Given the description of an element on the screen output the (x, y) to click on. 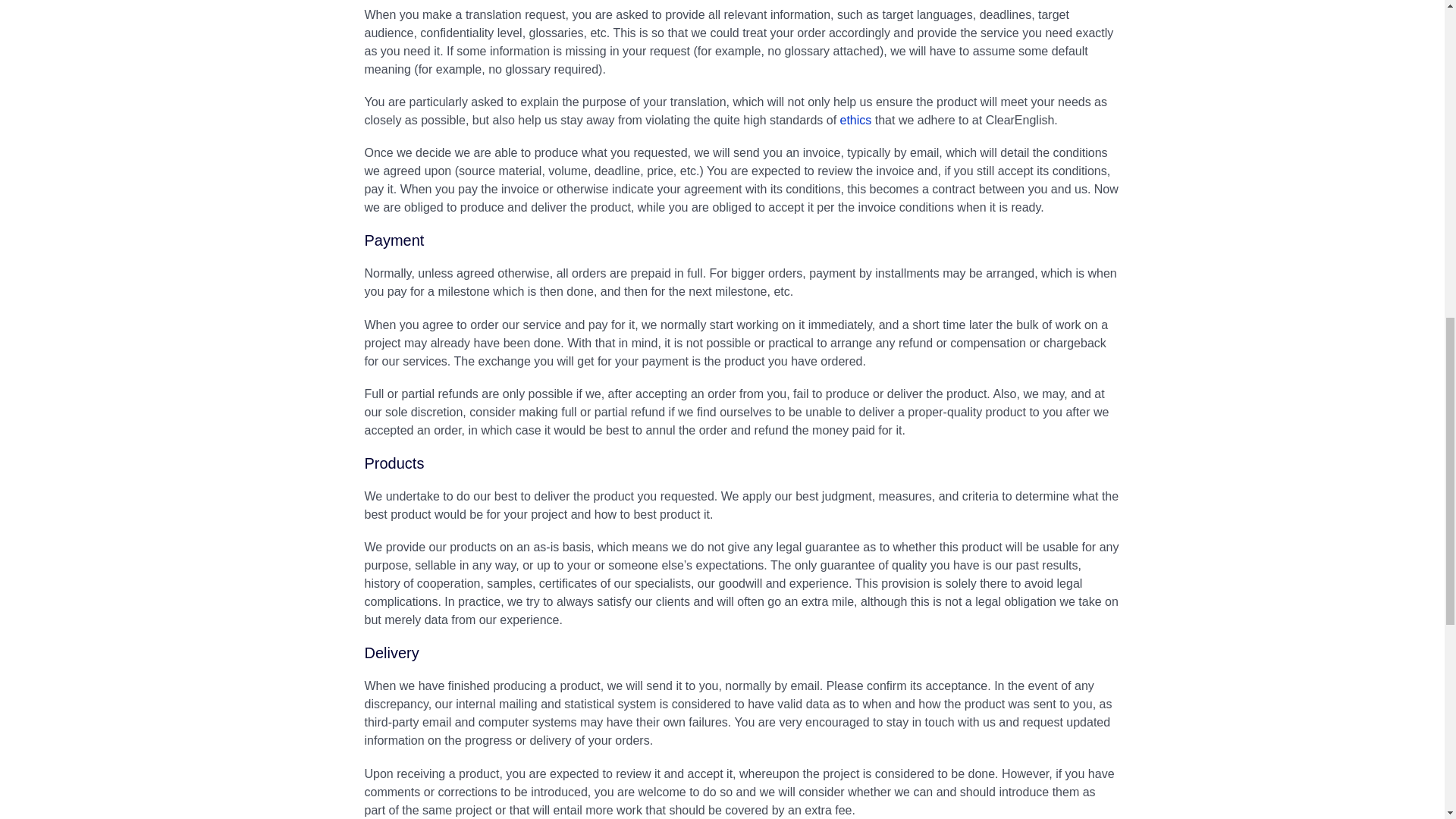
ethics (856, 119)
